Given the description of an element on the screen output the (x, y) to click on. 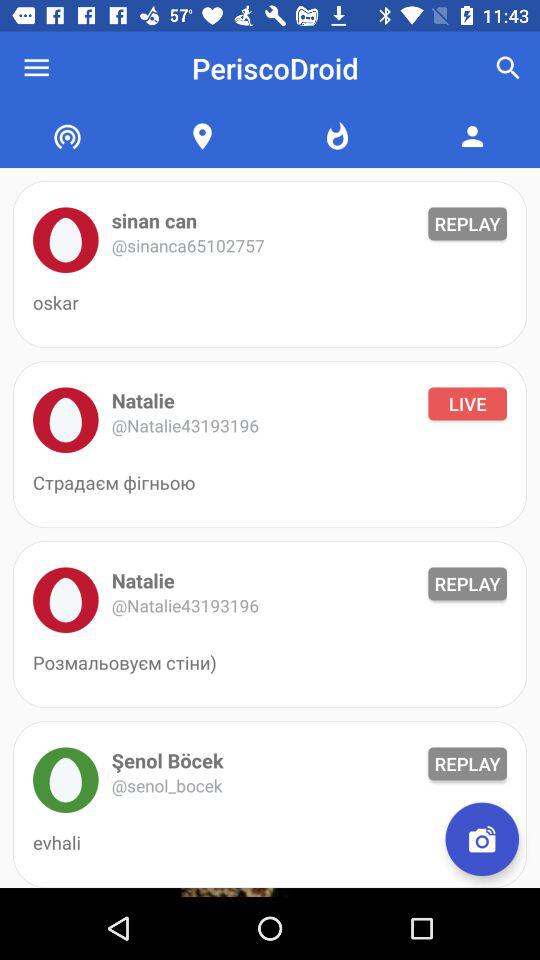
take photo (482, 839)
